Given the description of an element on the screen output the (x, y) to click on. 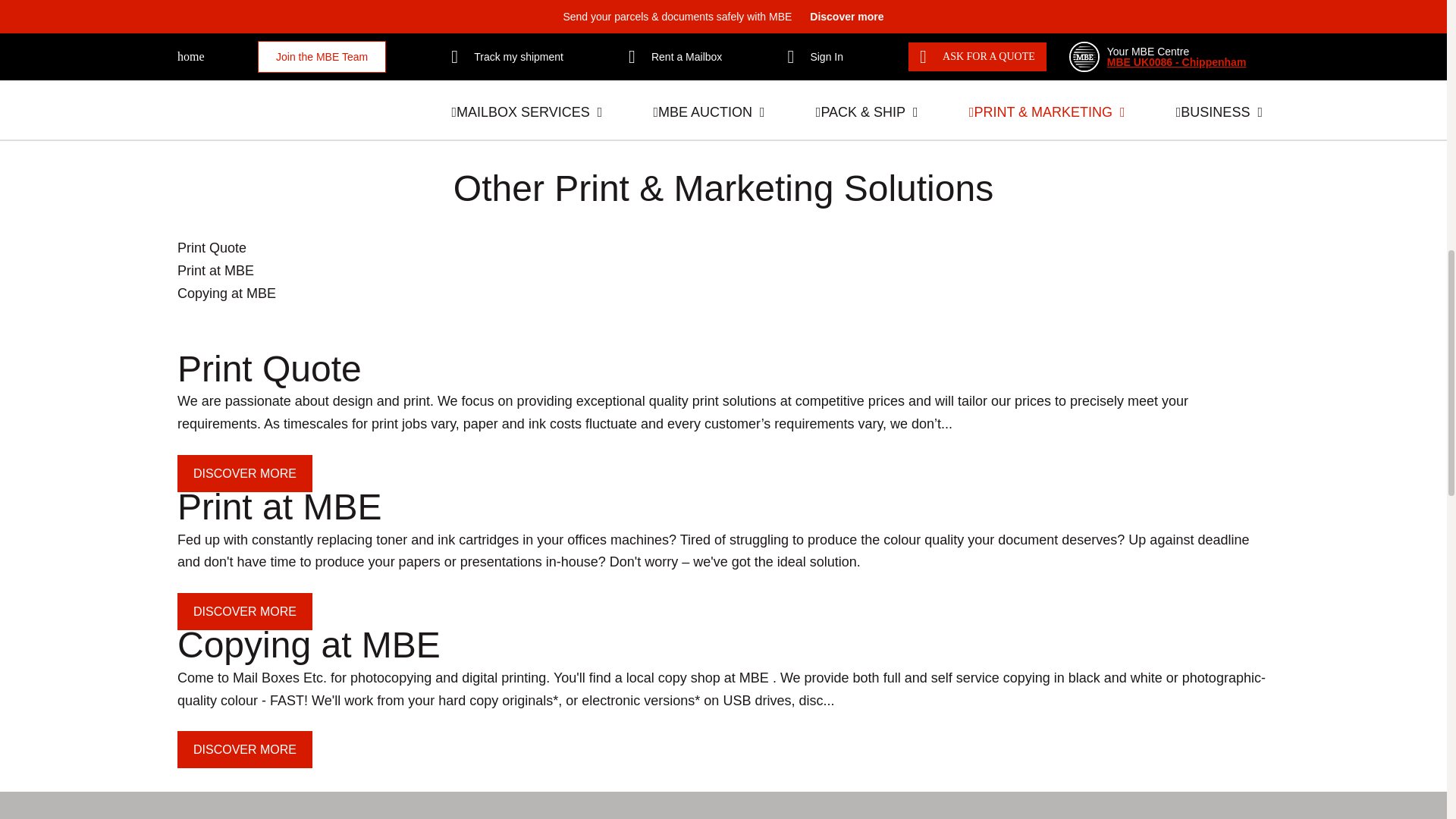
Submit (1094, 65)
on (937, 32)
